Given the description of an element on the screen output the (x, y) to click on. 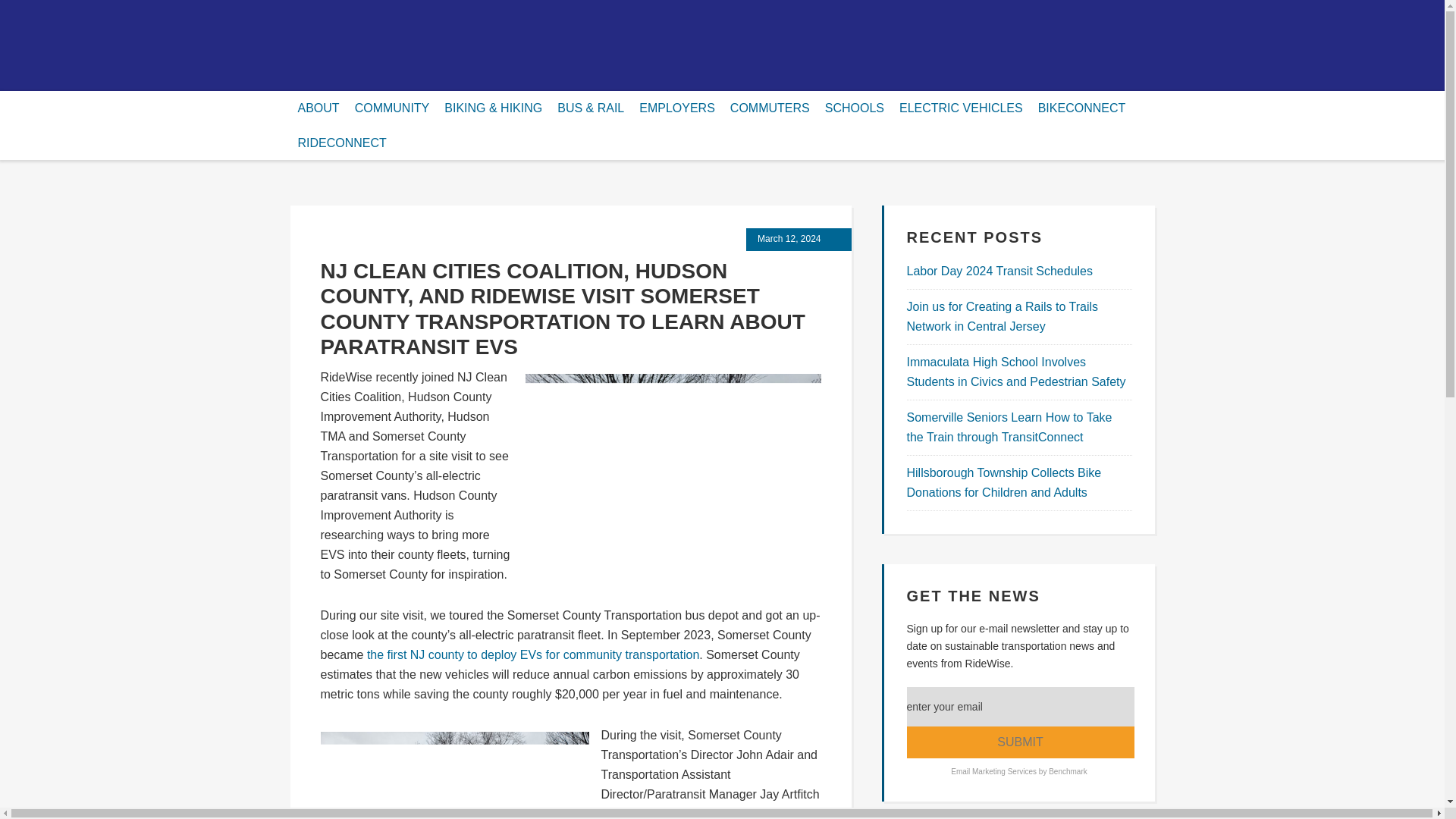
Ridewise (478, 33)
SUBMIT (1020, 742)
ABOUT (317, 108)
COMMUNITY (392, 108)
EMPLOYERS (676, 108)
